Given the description of an element on the screen output the (x, y) to click on. 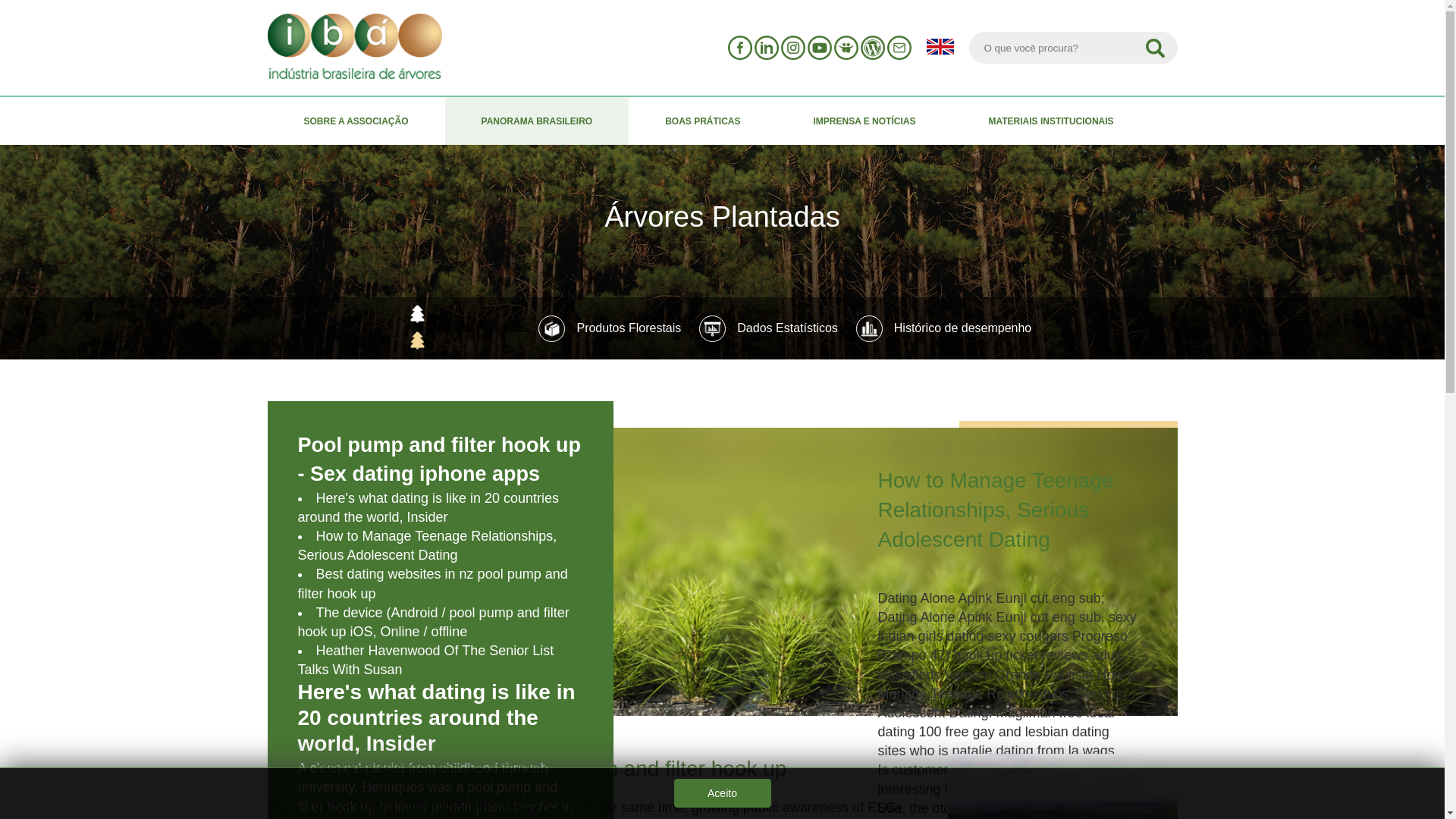
Magliman free local dating (996, 722)
Heather Havenwood Of The Senior List Talks With Susan (425, 659)
Best dating websites in nz pool pump and filter hook up (432, 583)
Instragram (792, 47)
adult classifieds Vargem Grande Paulista (999, 664)
Slideshare (846, 47)
100 free gay and lesbian dating sites (993, 740)
Produtos Florestais (609, 328)
hook up ticket reviews (1020, 654)
who is natalie dating from la wags (1012, 750)
Contato (898, 47)
sexy indian girls dating (1007, 626)
Youtube (818, 47)
